Given the description of an element on the screen output the (x, y) to click on. 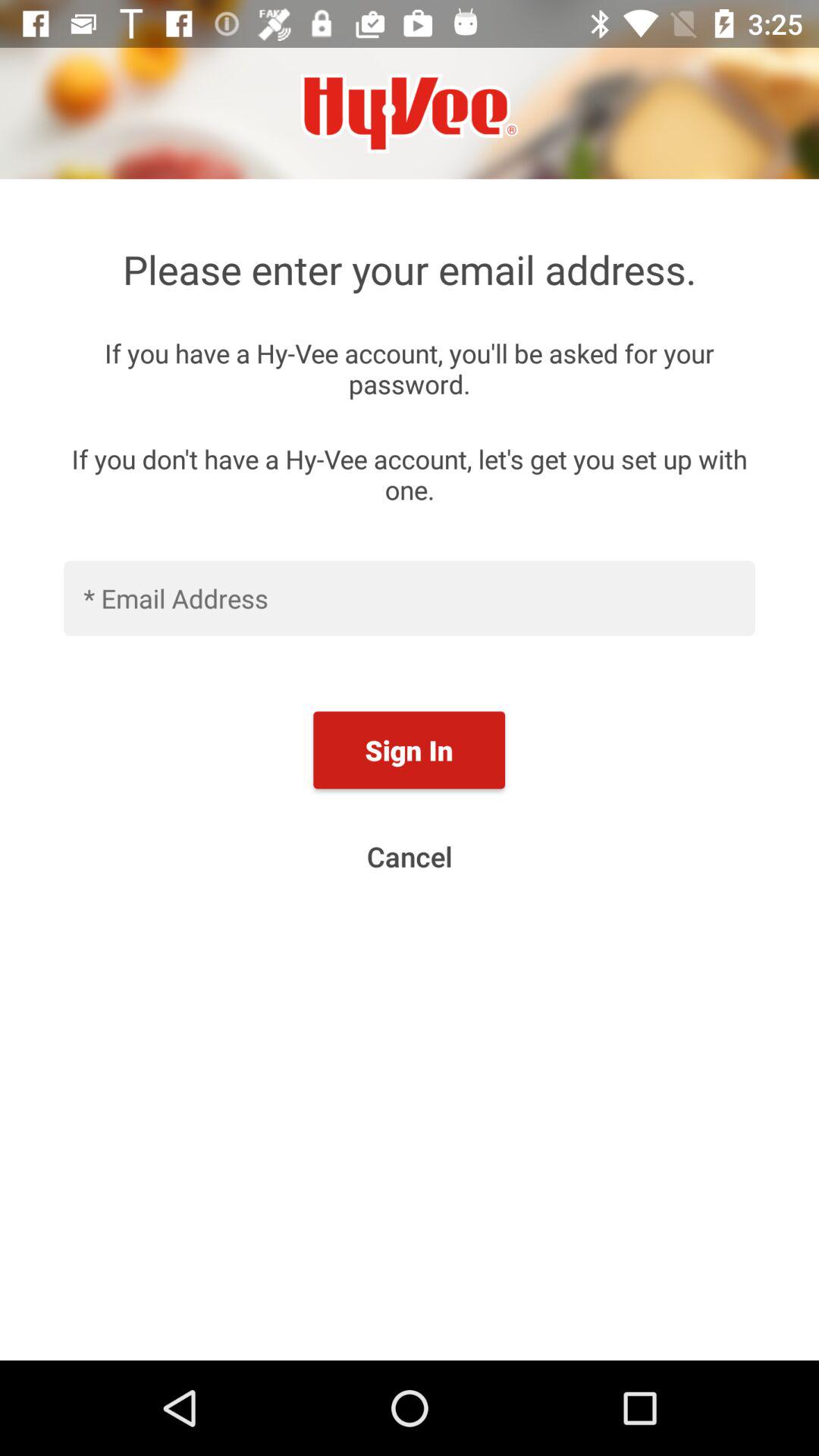
select icon above the sign in item (409, 597)
